Given the description of an element on the screen output the (x, y) to click on. 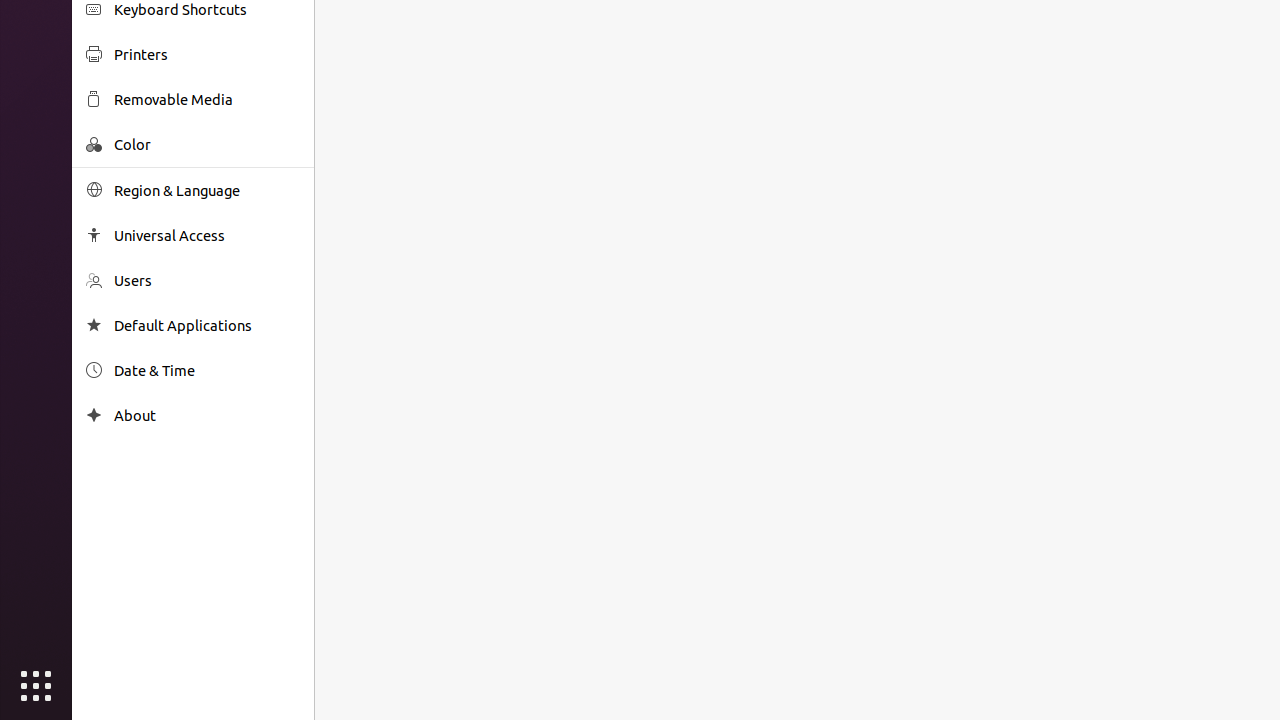
Date & Time Element type: label (207, 370)
Users Element type: label (207, 280)
Removable Media Element type: label (207, 99)
Default Applications Element type: label (207, 325)
Universal Access Element type: label (207, 235)
